Given the description of an element on the screen output the (x, y) to click on. 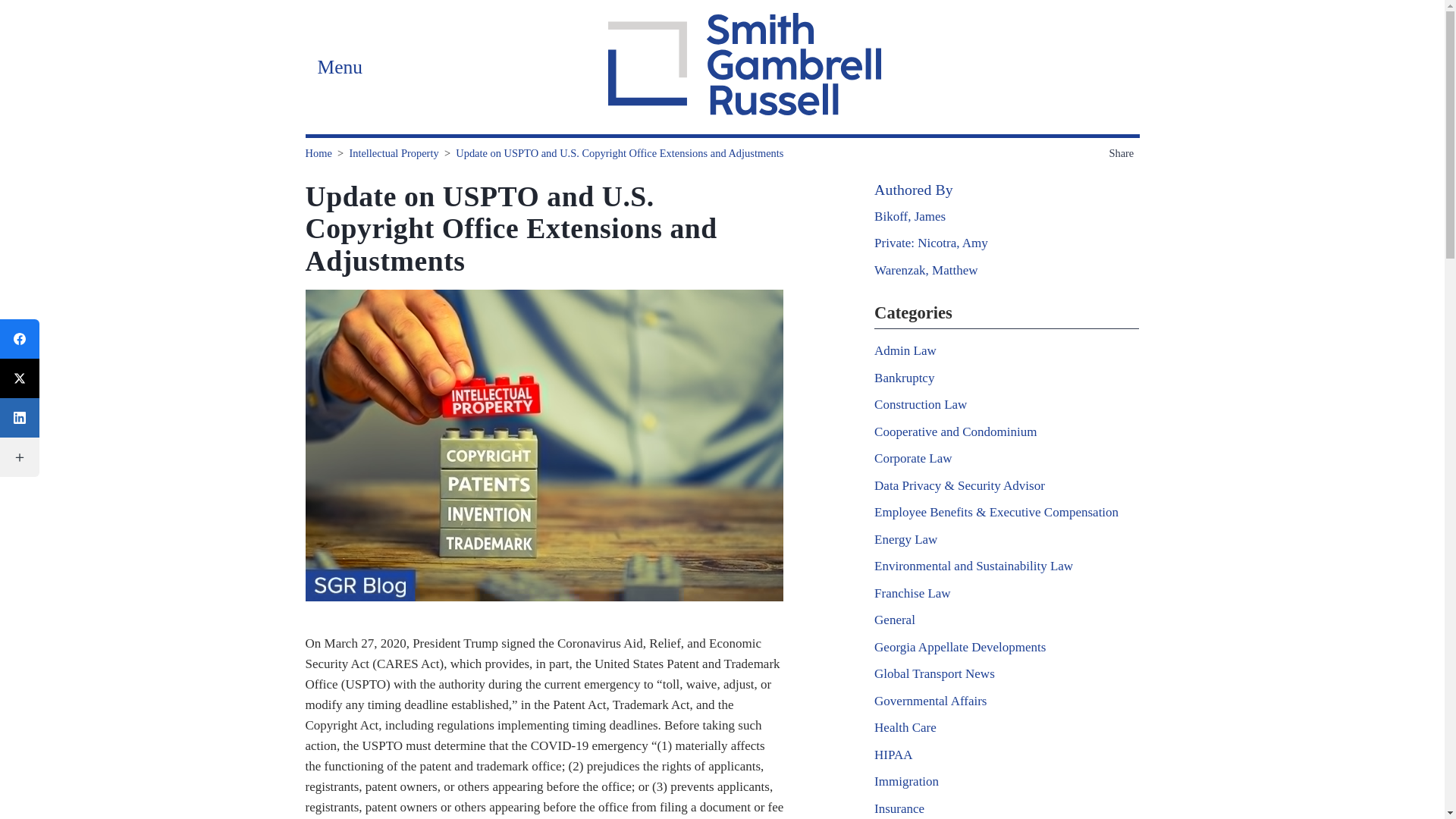
Share (1123, 153)
Intellectual Property (393, 152)
Bankruptcy (904, 377)
Menu (339, 67)
Home (317, 152)
Admin Law (905, 350)
Home (317, 152)
Cooperative and Condominium (955, 431)
Bikoff, James (909, 216)
